Given the description of an element on the screen output the (x, y) to click on. 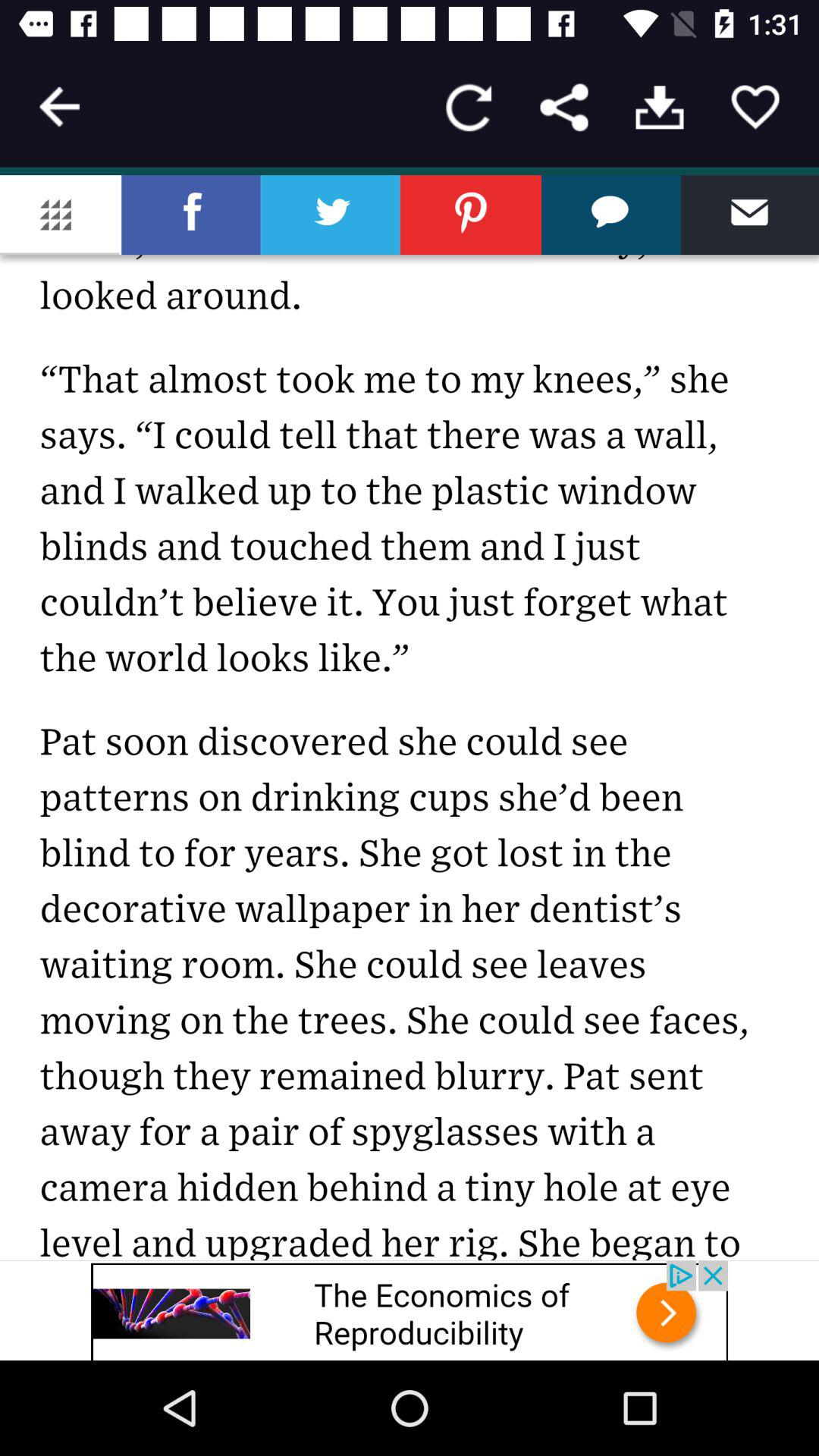
share (564, 107)
